Given the description of an element on the screen output the (x, y) to click on. 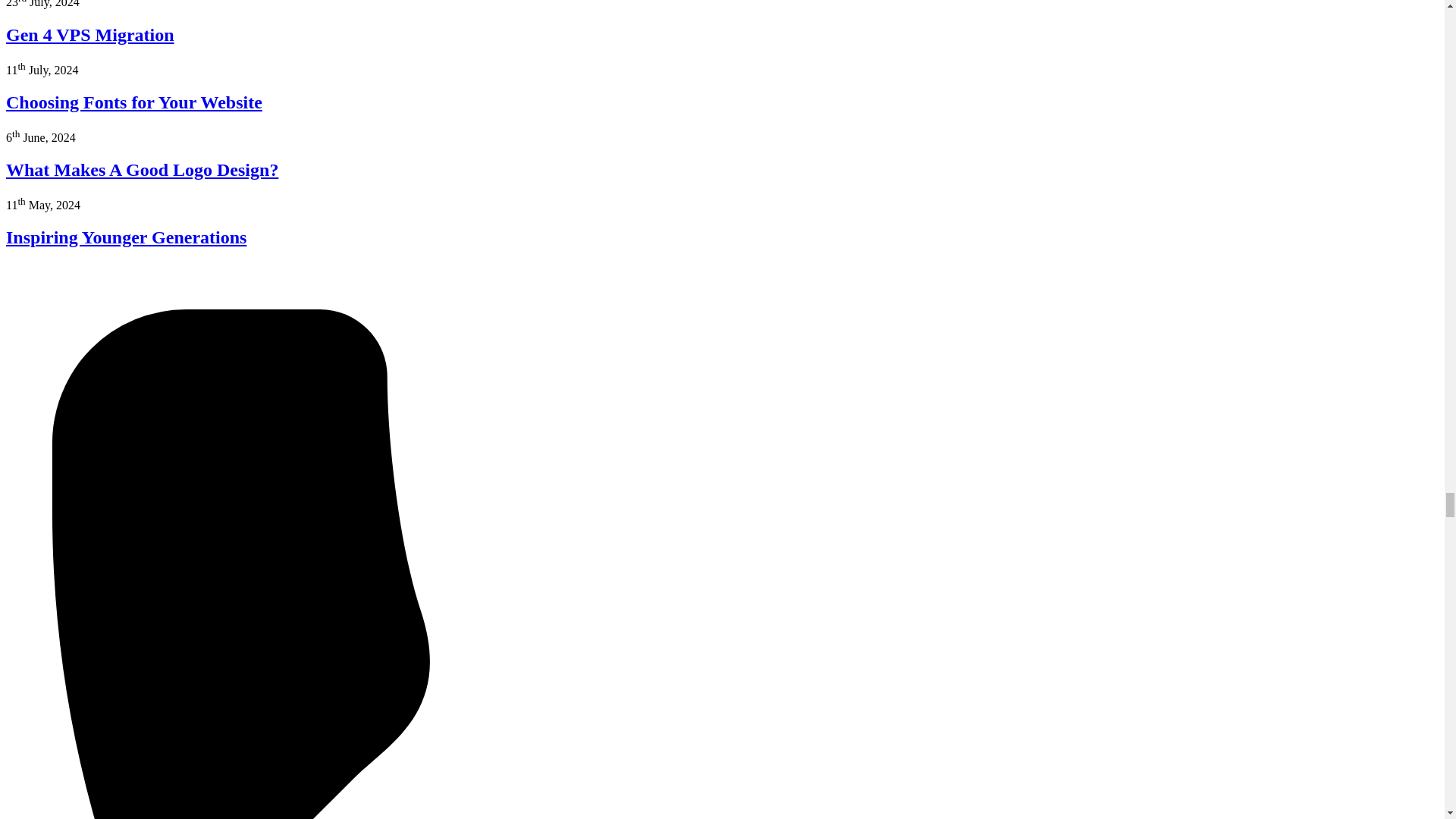
What Makes A Good Logo Design? (141, 169)
Choosing Fonts for Your Website (133, 102)
Gen 4 VPS Migration (89, 35)
